Given the description of an element on the screen output the (x, y) to click on. 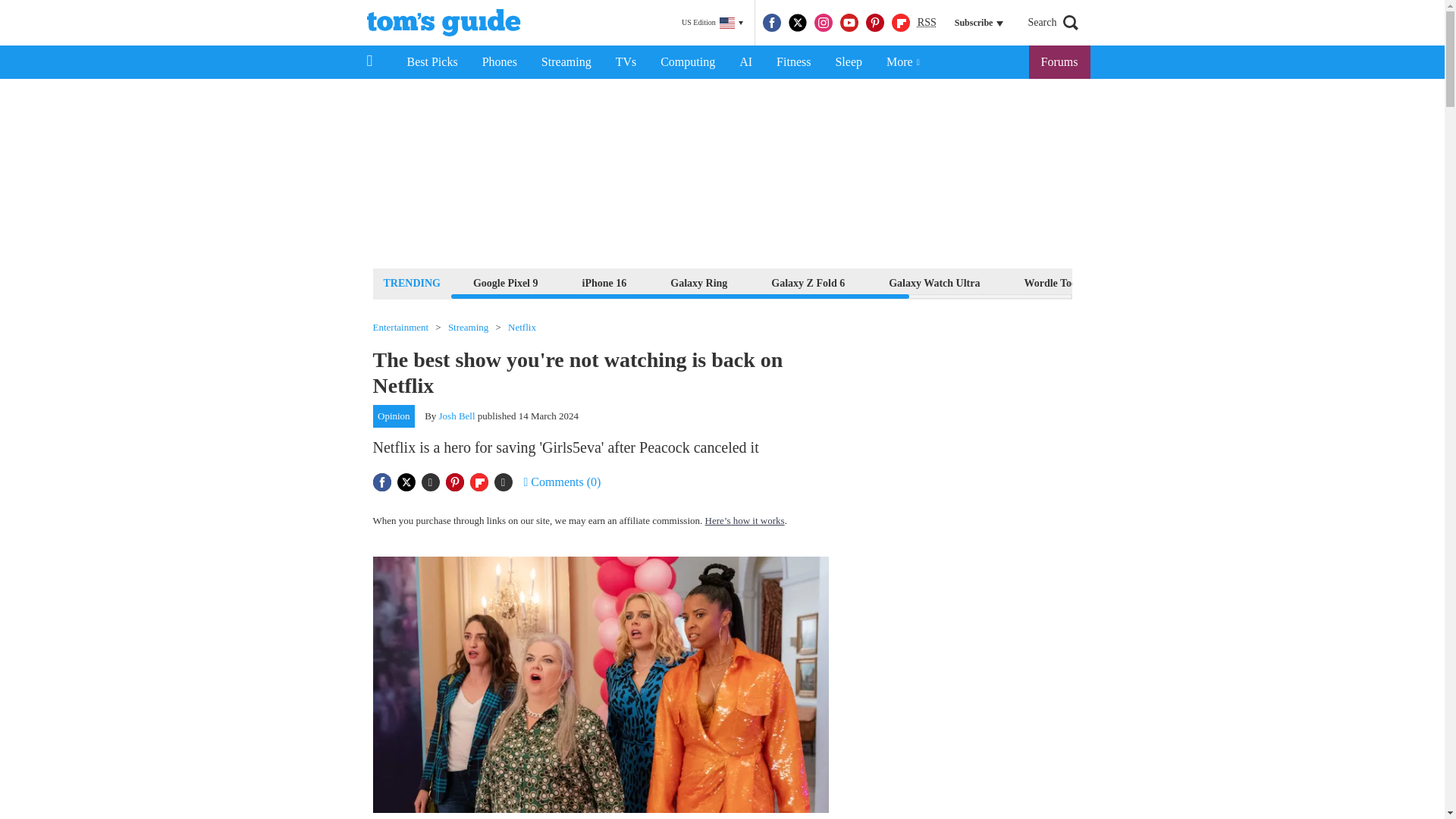
AI (745, 61)
Streaming (566, 61)
Really Simple Syndication (926, 21)
TVs (626, 61)
Sleep (848, 61)
US Edition (712, 22)
Computing (686, 61)
Fitness (793, 61)
Phones (499, 61)
Best Picks (431, 61)
